Given the description of an element on the screen output the (x, y) to click on. 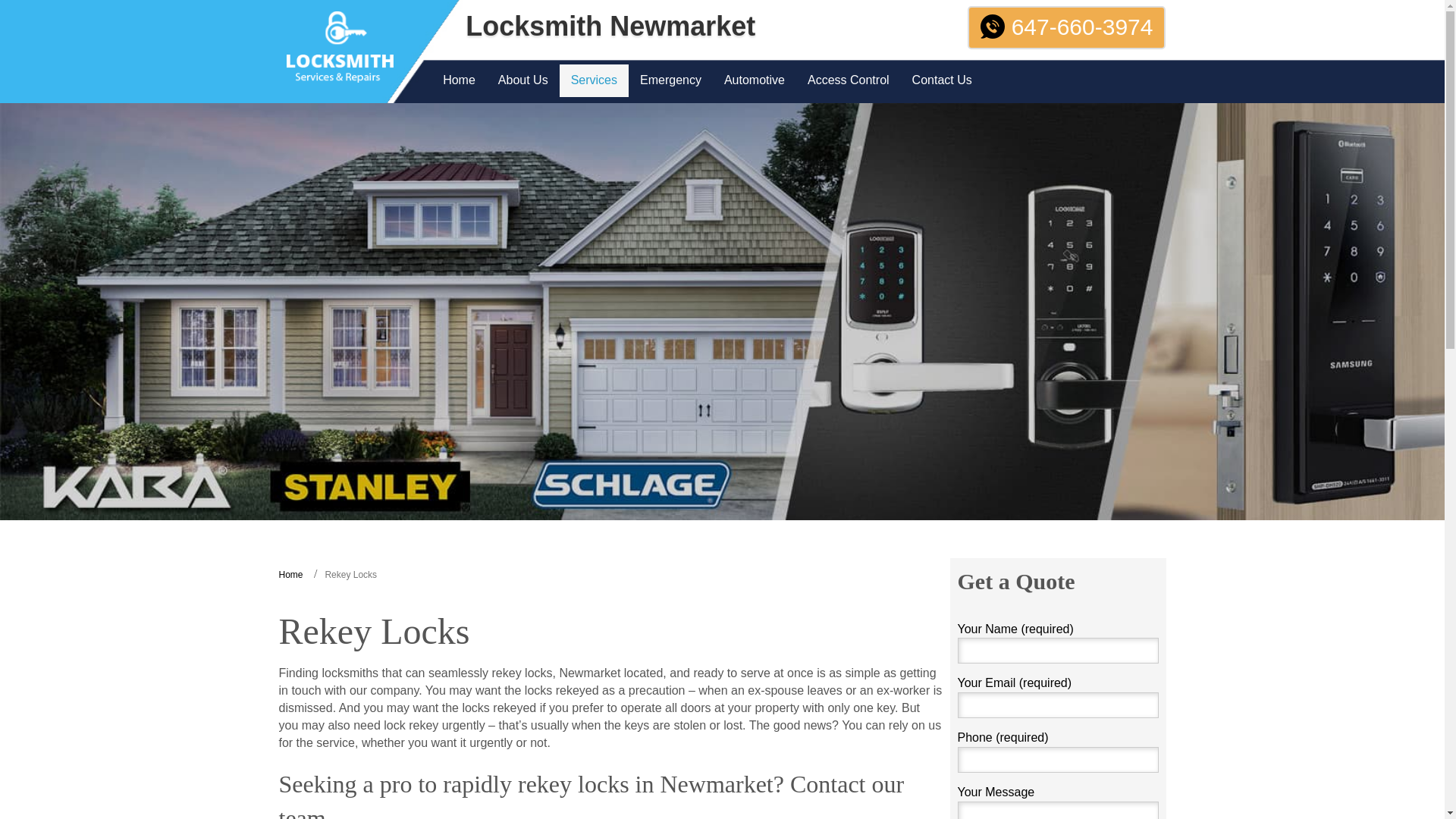
Emergency (670, 80)
Access Control (848, 80)
Home (290, 574)
647-660-3974 (1067, 27)
About Us (522, 80)
Automotive (754, 80)
Home (458, 80)
Contact Us (942, 80)
Services (593, 80)
